Given the description of an element on the screen output the (x, y) to click on. 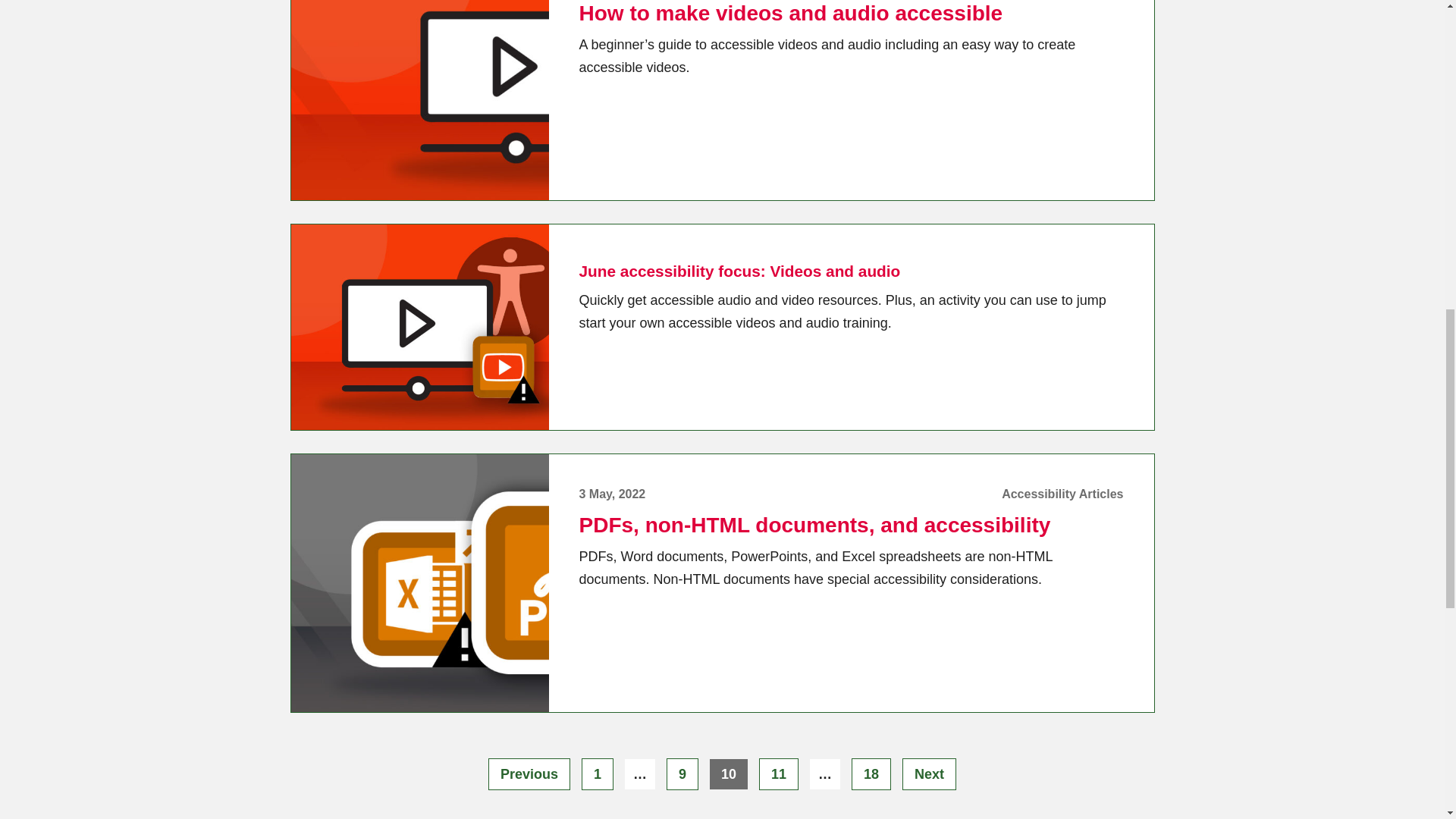
June accessibility focus: Videos and audio (740, 271)
How to make videos and audio accessible (682, 774)
Next (791, 13)
PDFs, non-HTML documents, and accessibility (596, 774)
Previous (871, 774)
